Given the description of an element on the screen output the (x, y) to click on. 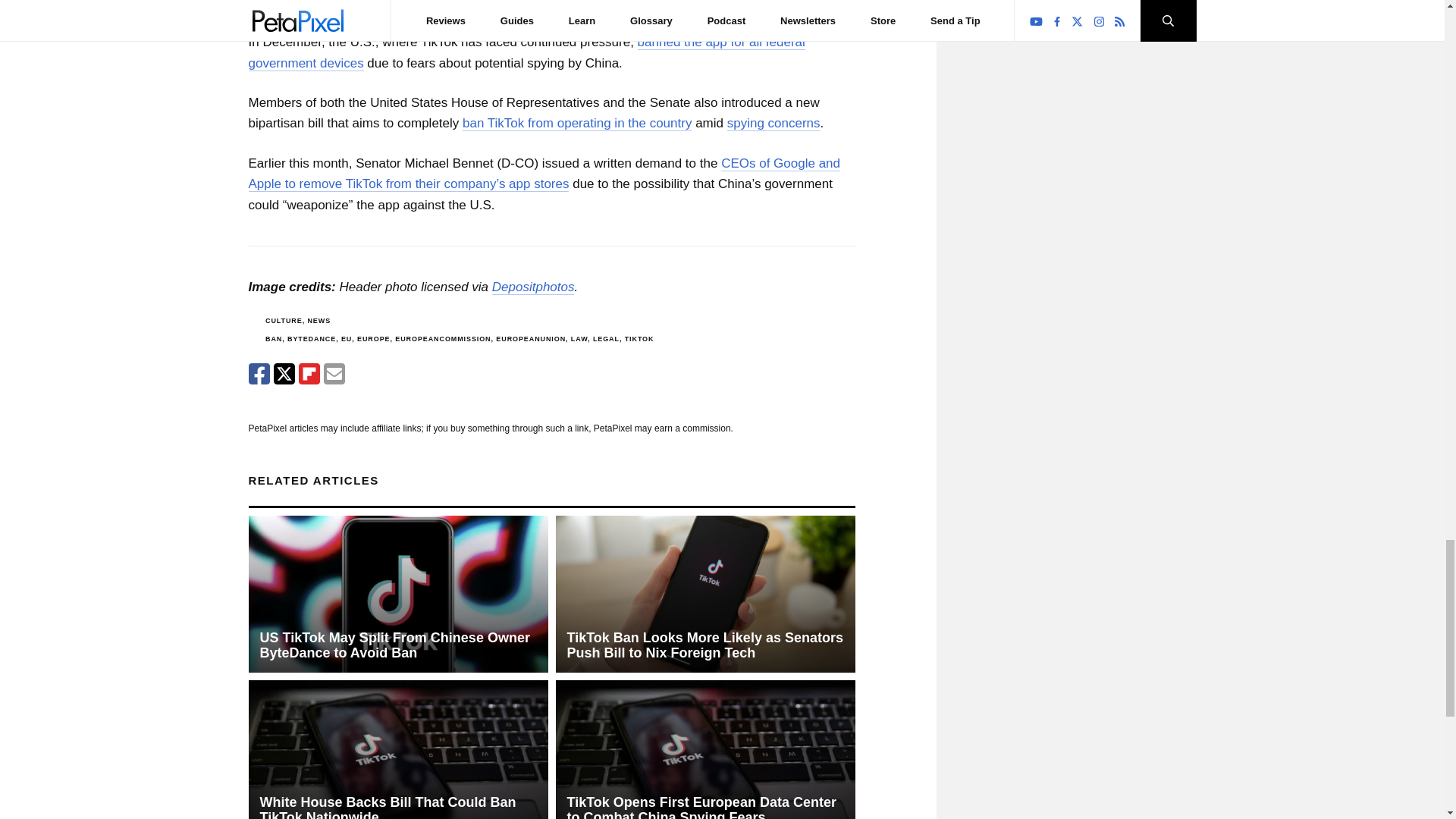
spying concerns (773, 123)
Share on Flipboard (309, 373)
Depositphotos (533, 287)
EUROPE (373, 338)
BAN (273, 338)
BYTEDANCE (311, 338)
ban TikTok from operating in the country (577, 123)
EU (346, 338)
Email this article (333, 373)
Share on X (283, 373)
EUROPEANUNION (531, 338)
LEGAL (606, 338)
NEWS (318, 320)
banned the app for all federal government devices (526, 52)
TIKTOK (638, 338)
